Given the description of an element on the screen output the (x, y) to click on. 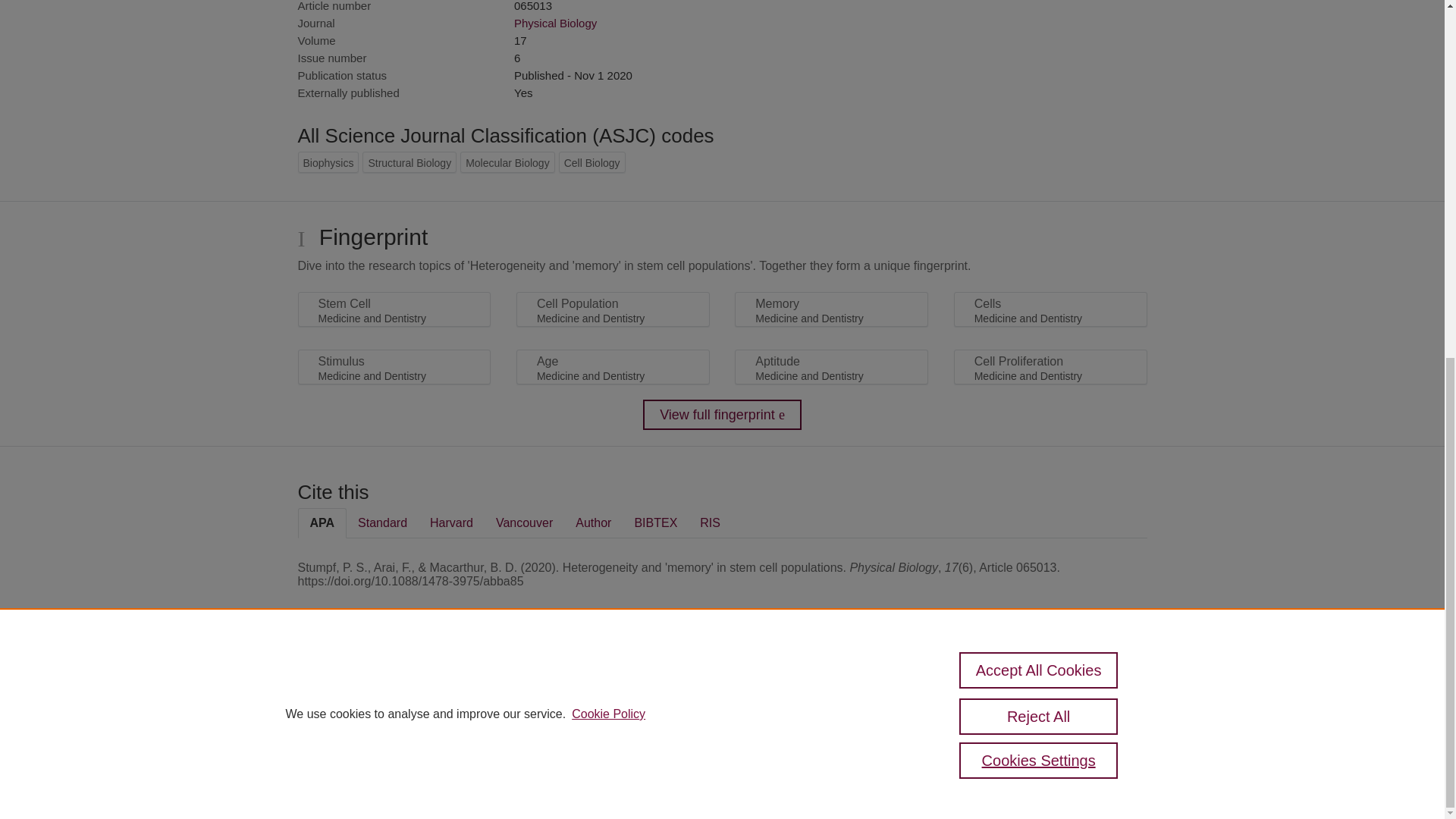
View full fingerprint (722, 414)
Pure (362, 686)
Scopus (394, 686)
Elsevier B.V. (506, 707)
Physical Biology (554, 22)
